Given the description of an element on the screen output the (x, y) to click on. 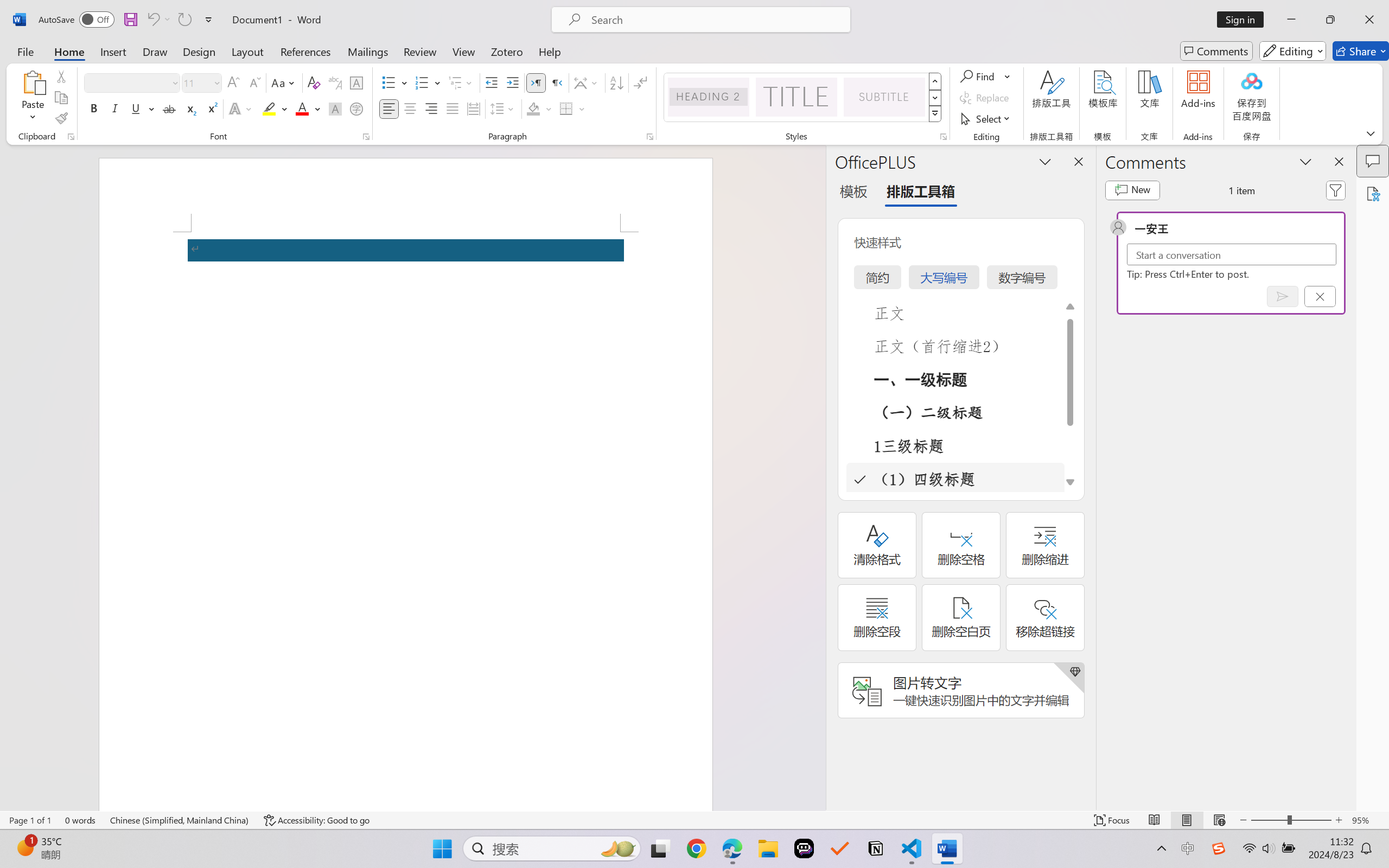
Sign in (1244, 19)
Repeat Accessibility Checker (184, 19)
